Given the description of an element on the screen output the (x, y) to click on. 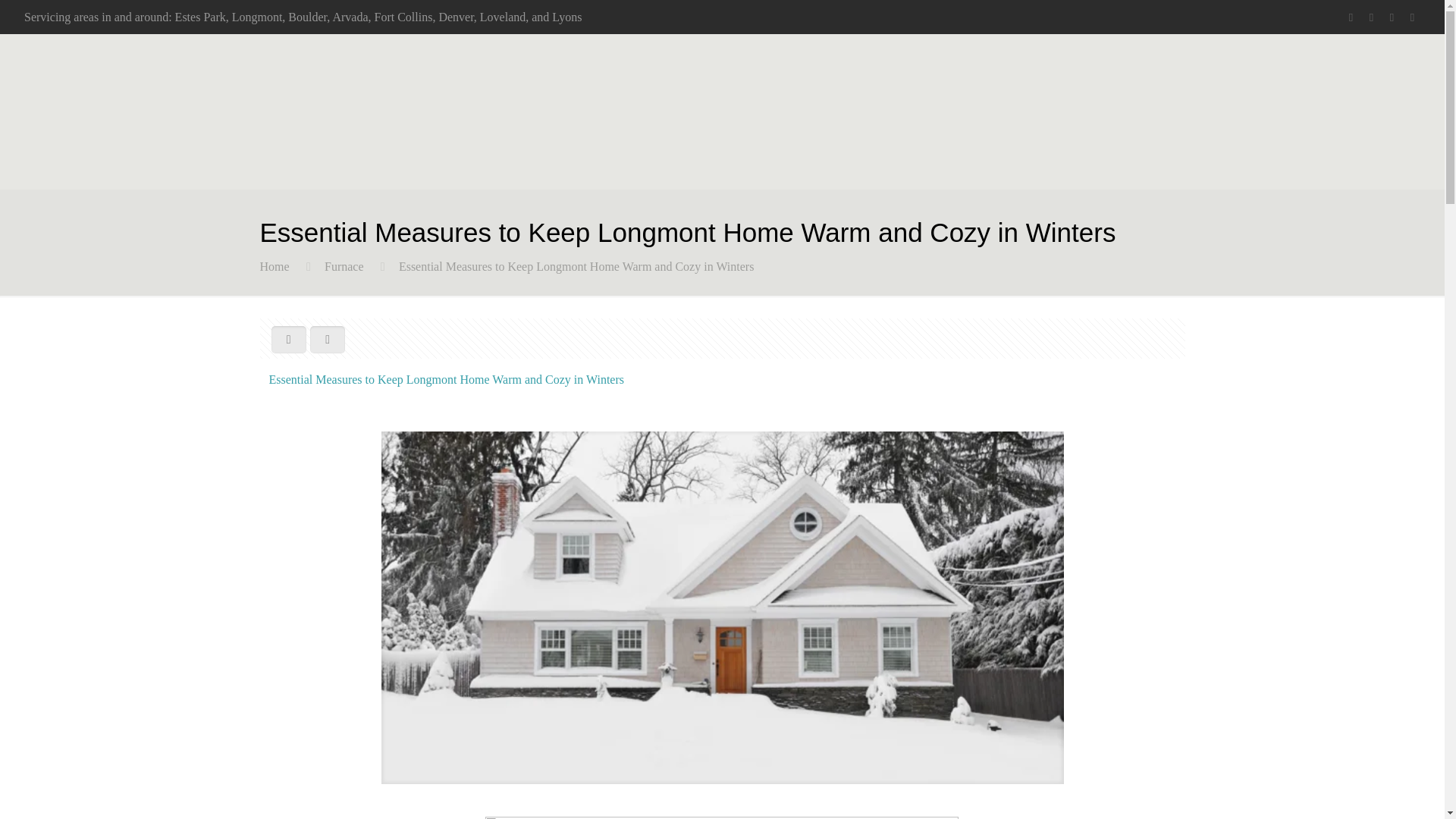
Twitter (1370, 17)
Instagram (1413, 17)
Facebook (1350, 17)
LinkedIn (1391, 17)
